Given the description of an element on the screen output the (x, y) to click on. 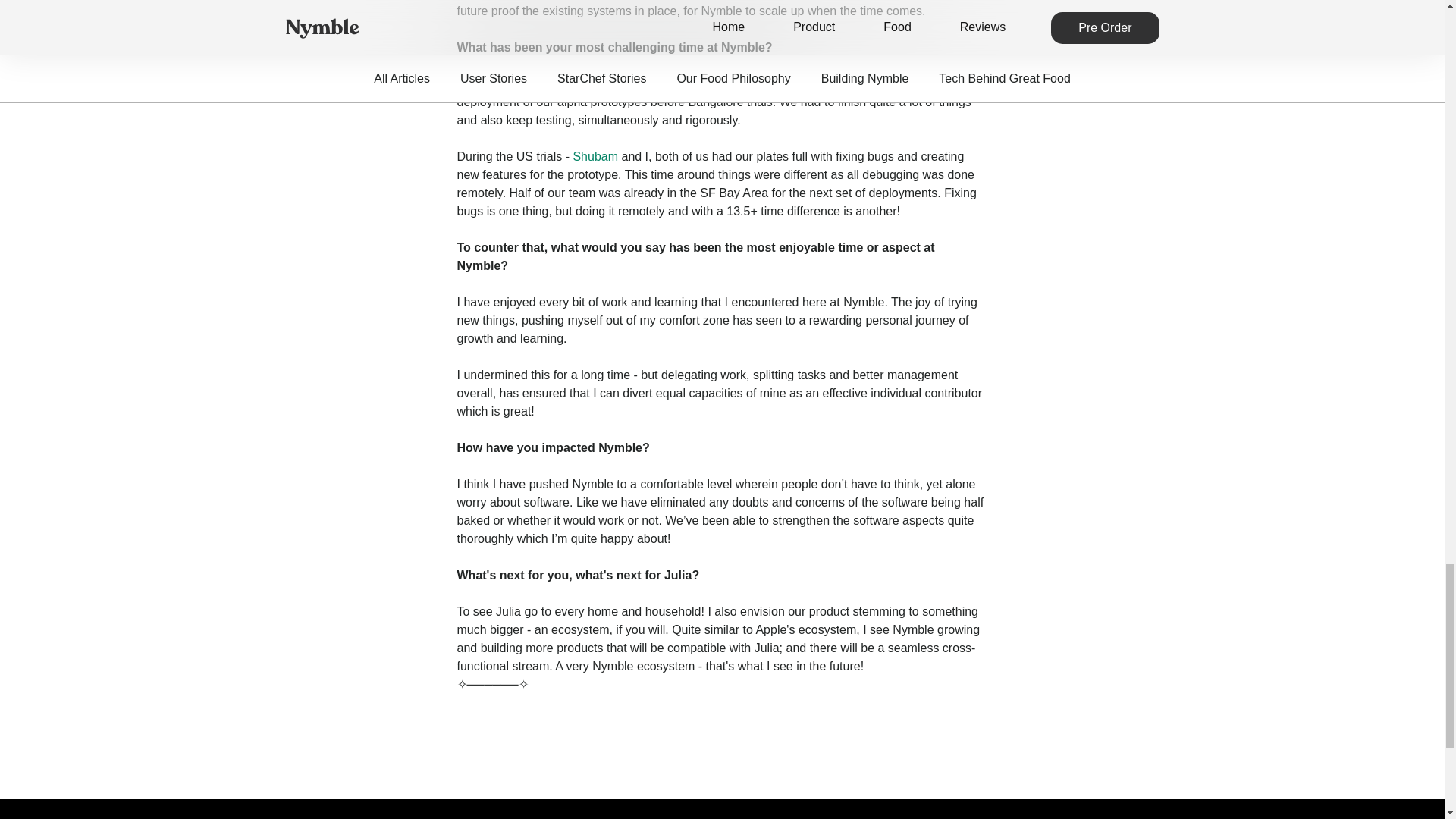
Shubam (594, 155)
